Given the description of an element on the screen output the (x, y) to click on. 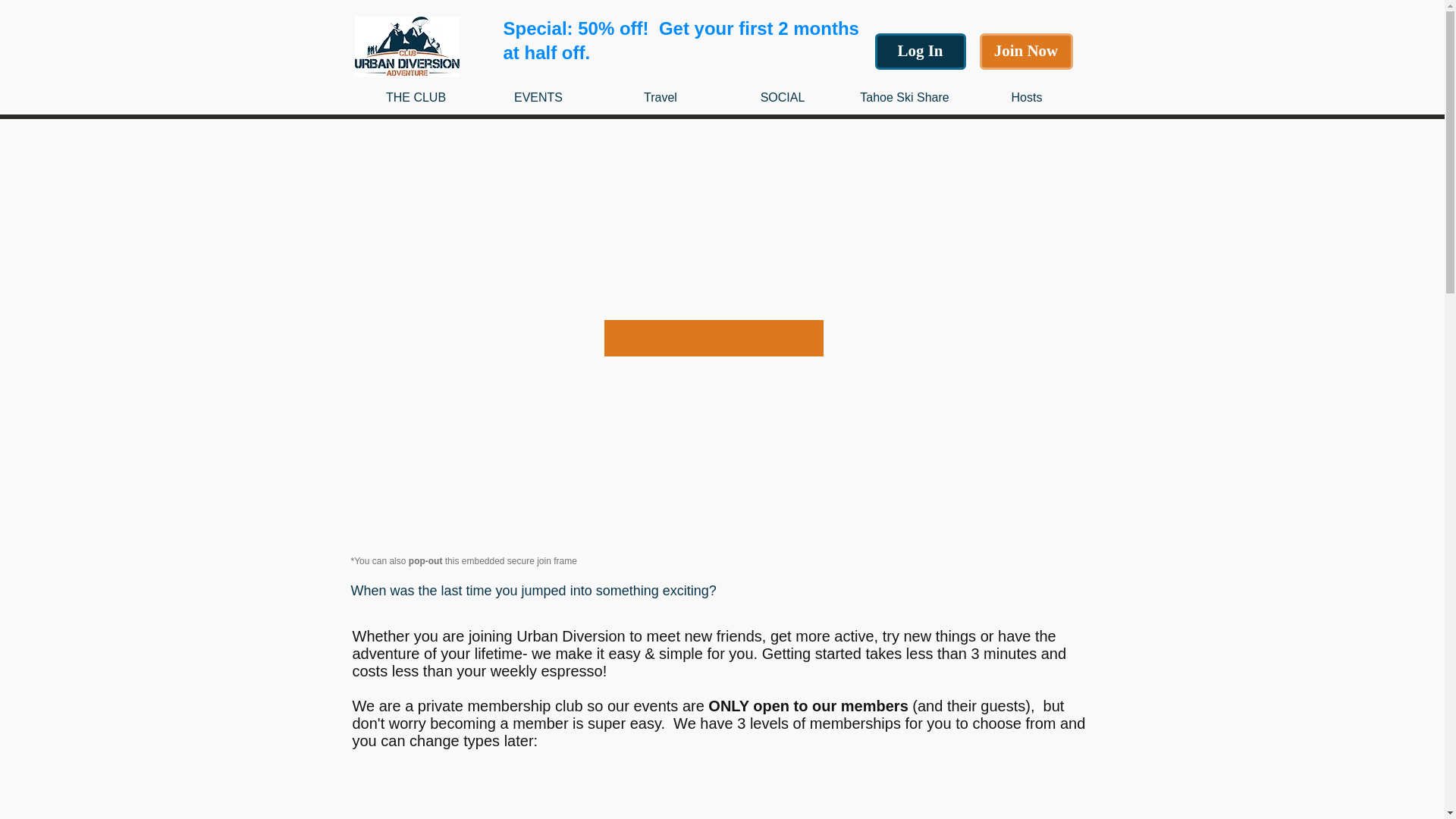
THE CLUB (416, 97)
Join Now (1026, 51)
Travel (659, 97)
Tahoe Ski Share (904, 97)
SOCIAL (783, 97)
EVENTS (538, 97)
Hosts (1026, 97)
Log In (920, 51)
